Given the description of an element on the screen output the (x, y) to click on. 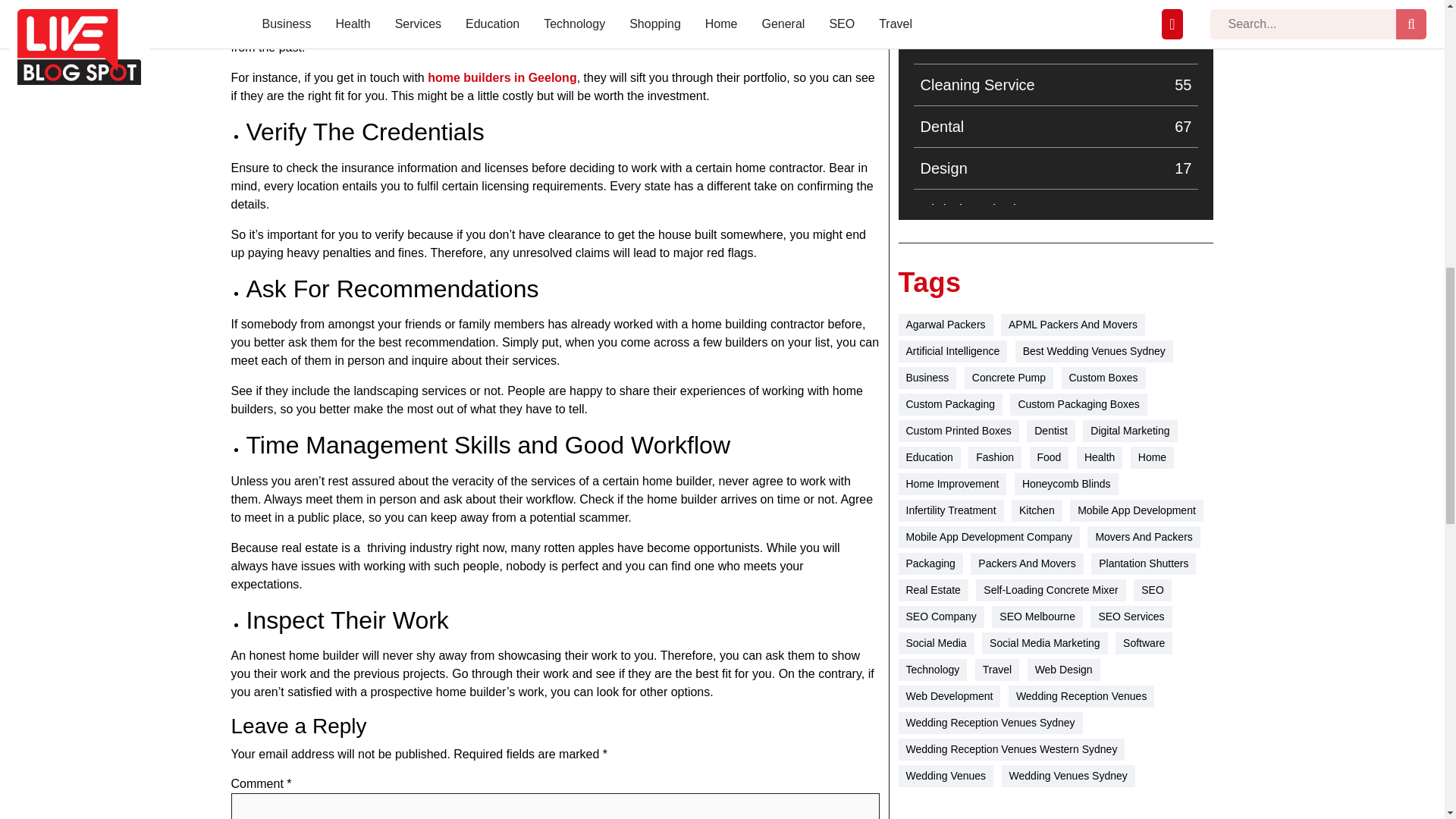
home builders in Geelong (1056, 6)
